Given the description of an element on the screen output the (x, y) to click on. 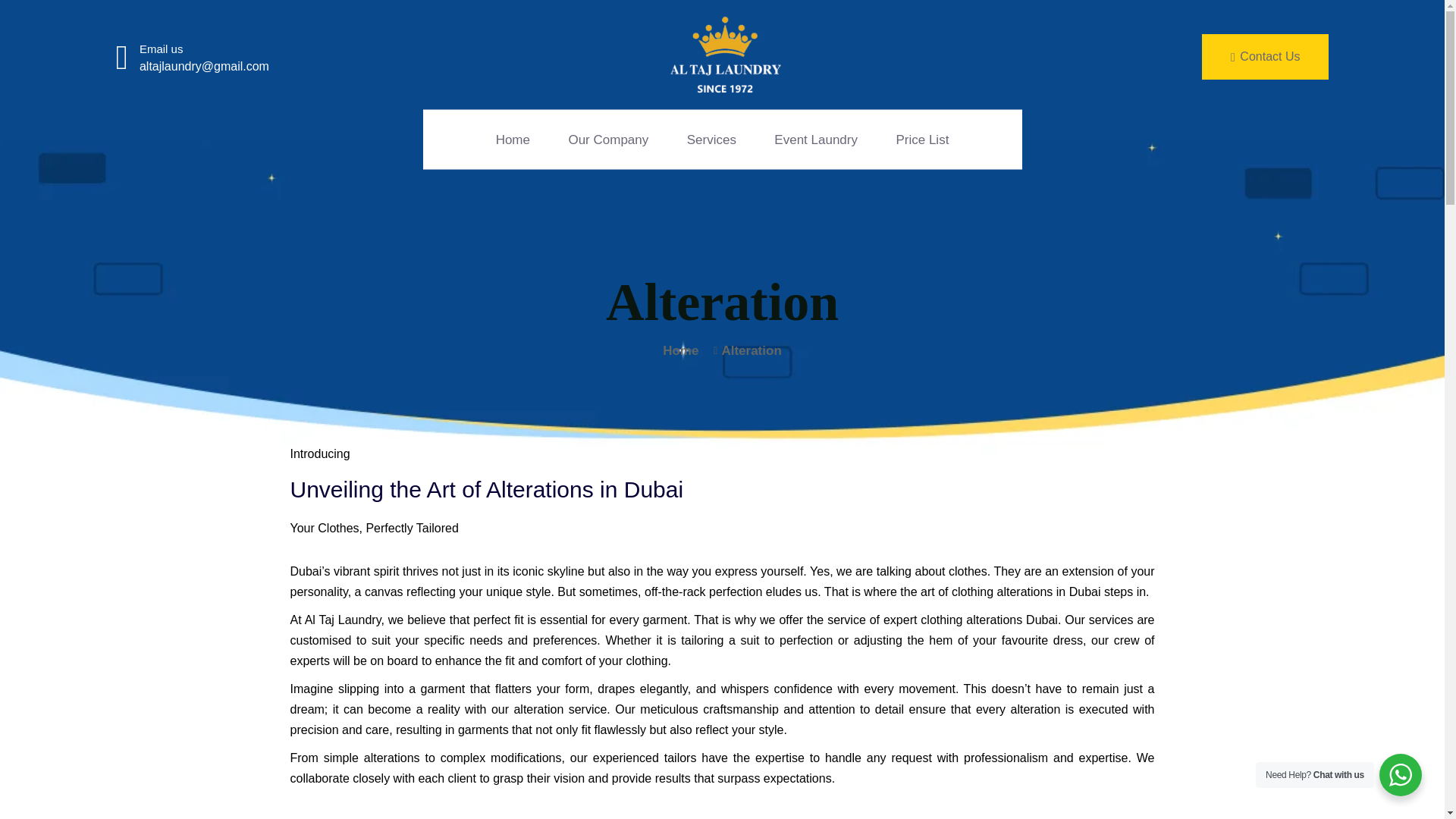
Our Company (607, 138)
Event Laundry (815, 138)
Our Company (607, 138)
Contact Us (1264, 56)
Home (680, 350)
